Given the description of an element on the screen output the (x, y) to click on. 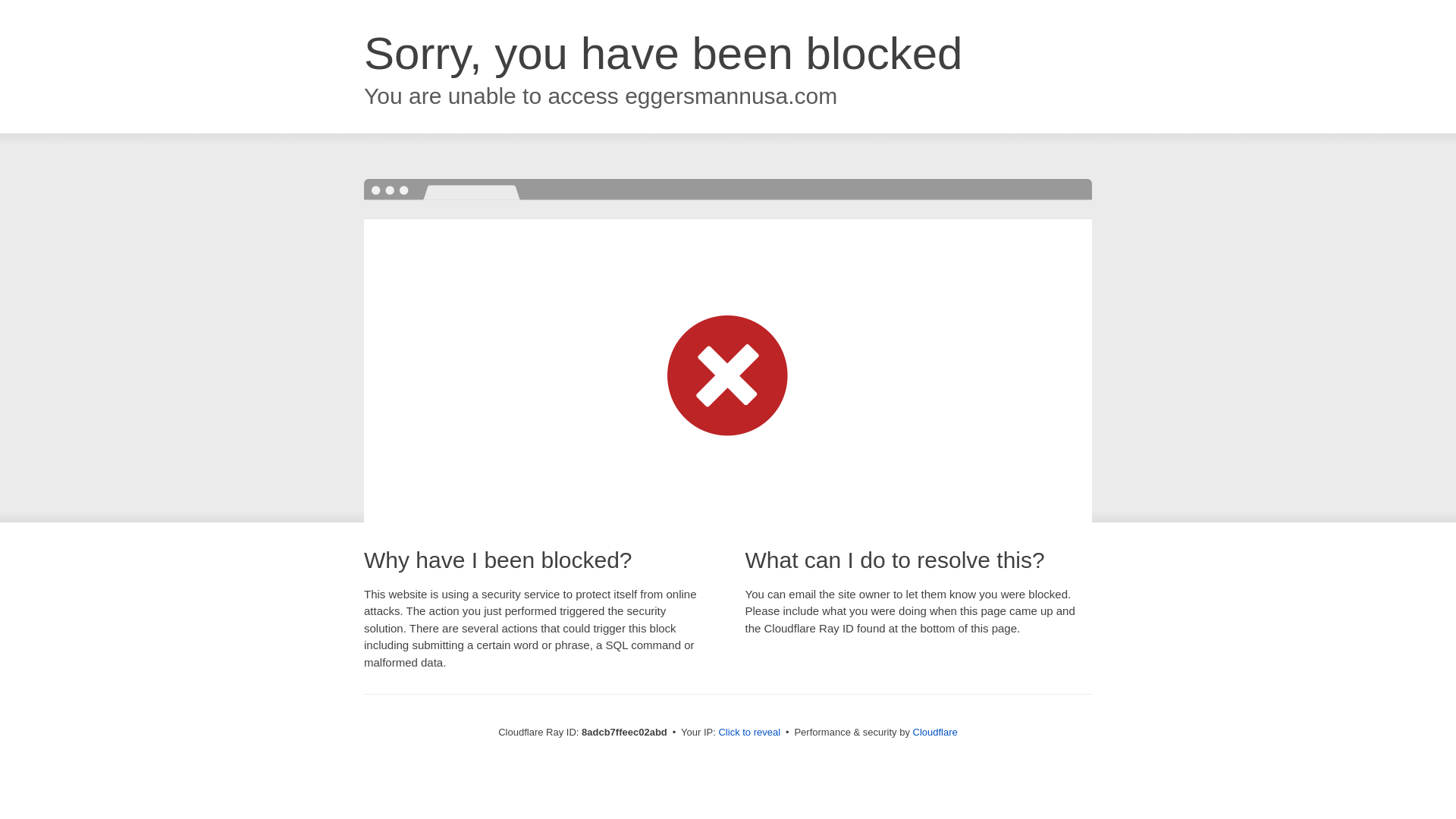
Cloudflare (935, 731)
Click to reveal (748, 732)
